Given the description of an element on the screen output the (x, y) to click on. 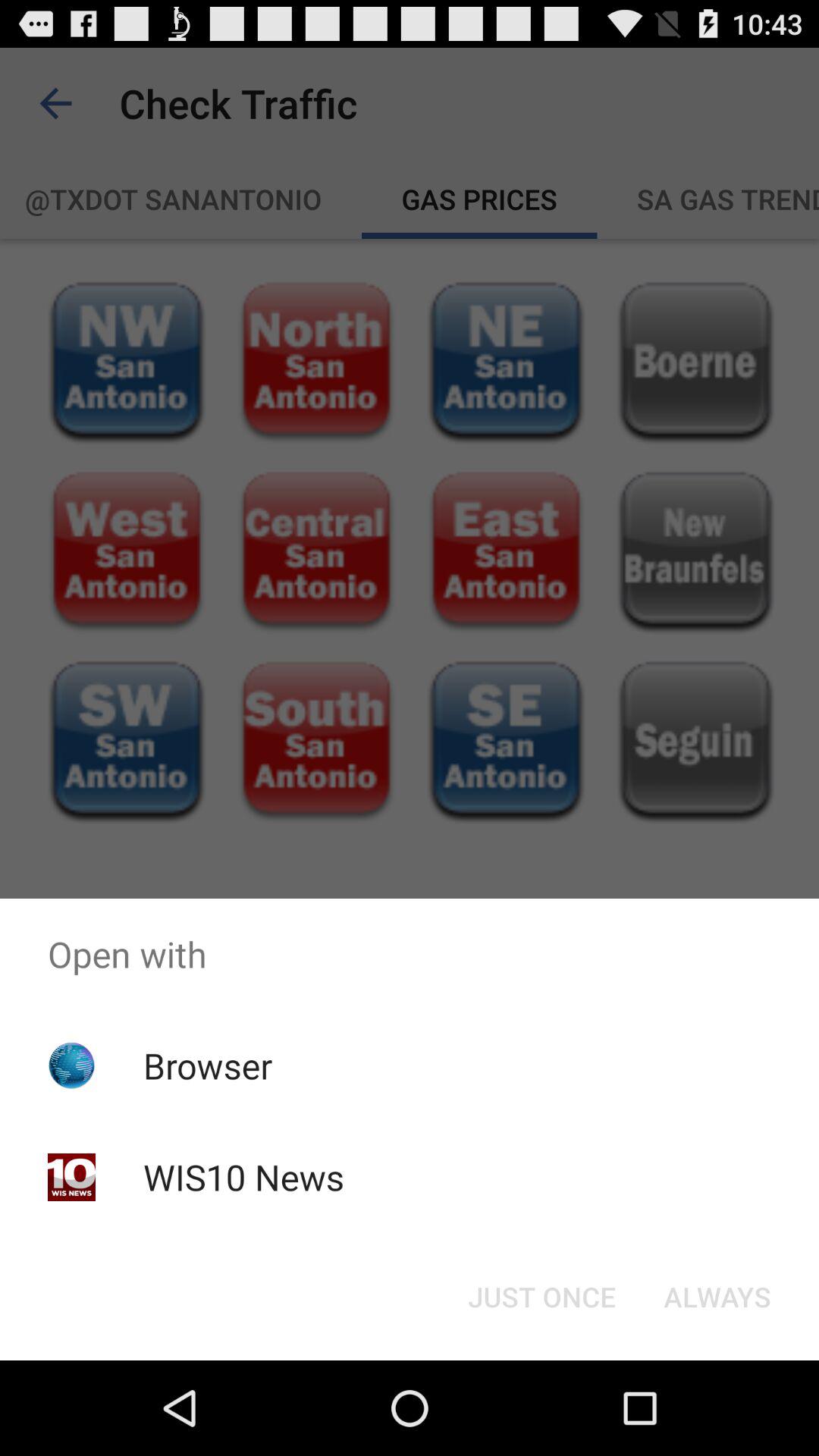
choose item to the left of always (541, 1296)
